Given the description of an element on the screen output the (x, y) to click on. 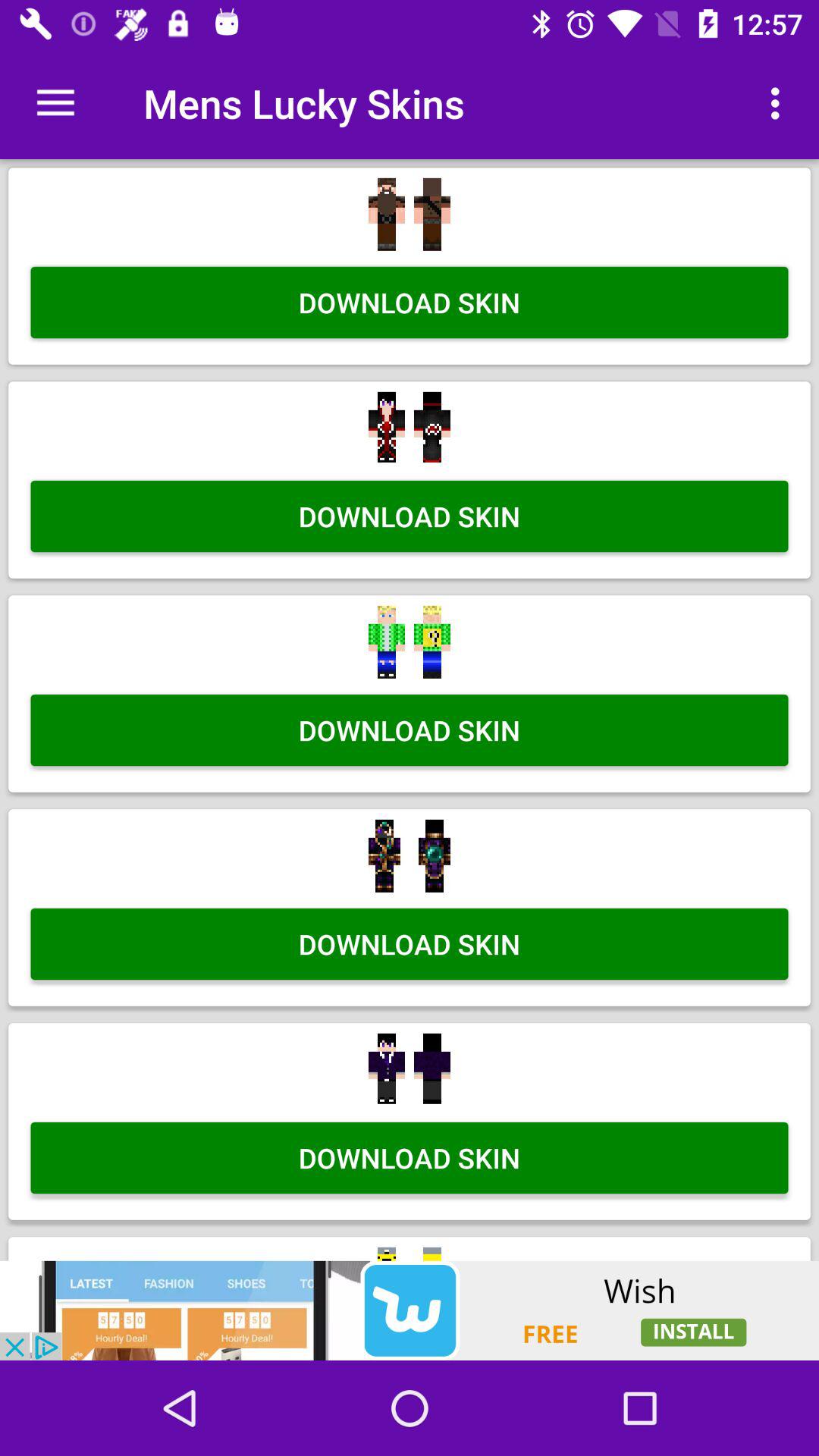
advertisement (409, 1310)
